Given the description of an element on the screen output the (x, y) to click on. 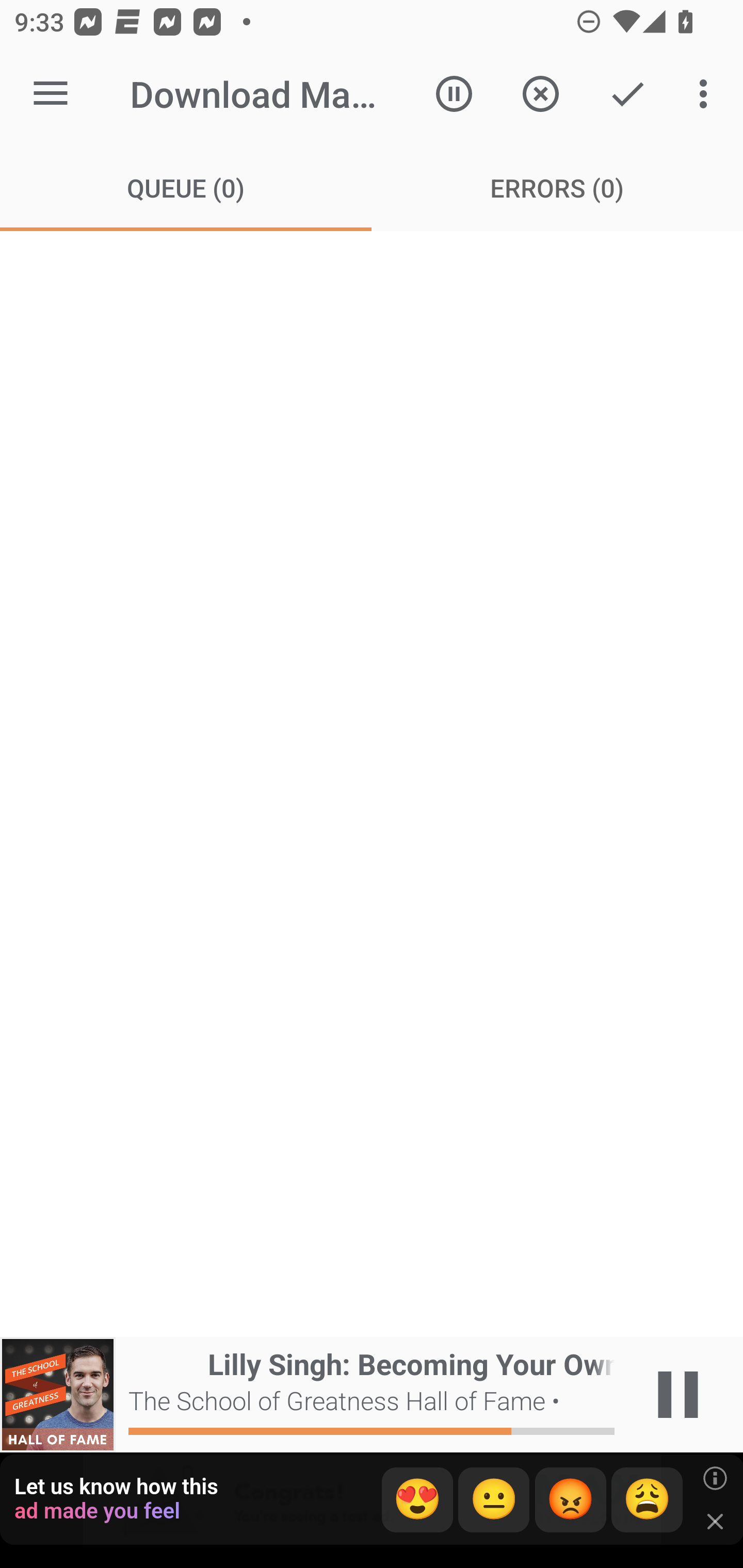
Open navigation sidebar (50, 93)
Pause downloads... (453, 93)
Cancel Downloads (540, 93)
Action Mode (626, 93)
More options (706, 93)
Errors (0) ERRORS (0) (557, 187)
Play / Pause (677, 1394)
app-monetization (371, 1500)
😍 (416, 1499)
😐 (493, 1499)
😡 (570, 1499)
😩 (647, 1499)
